Given the description of an element on the screen output the (x, y) to click on. 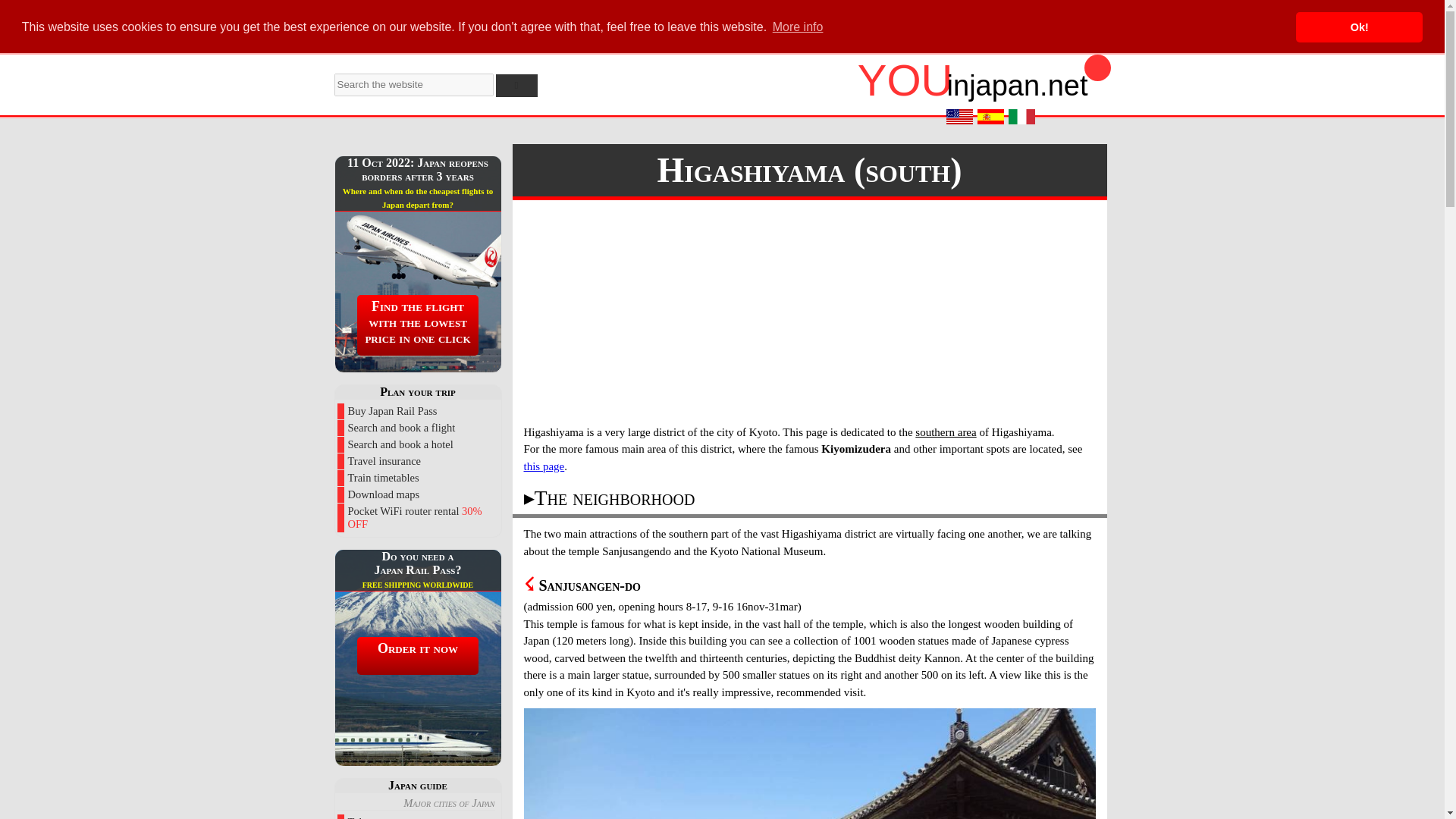
Buy Japan Rail Pass (416, 411)
Ok! (1358, 27)
Download maps (416, 494)
Italiano (1022, 116)
Order it now (417, 655)
Advertisement (808, 314)
Tokyo (416, 816)
Search and book a flight (416, 427)
Search and book a hotel (416, 444)
International (959, 116)
Train timetables (416, 478)
Travel insurance (416, 461)
More info (797, 26)
Find the flight with the lowest price in one click (417, 324)
